Given the description of an element on the screen output the (x, y) to click on. 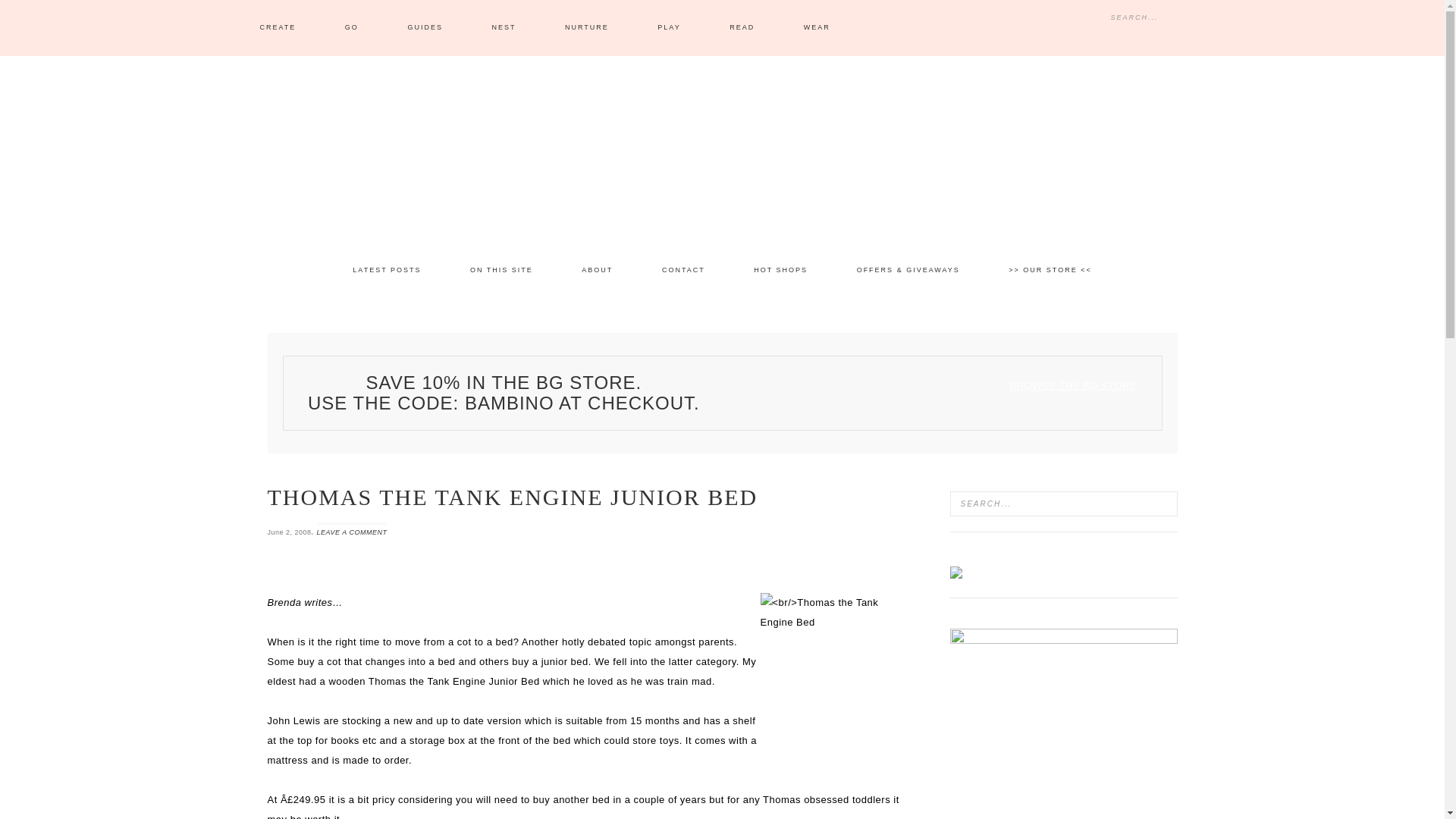
CREATE (276, 28)
GO (351, 28)
GUIDES (424, 28)
WEAR (816, 28)
PLAY (668, 28)
NURTURE (586, 28)
ON THIS SITE (501, 270)
NEST (503, 28)
BAMBINO GOODIES (722, 143)
READ (741, 28)
LATEST POSTS (387, 270)
